Given the description of an element on the screen output the (x, y) to click on. 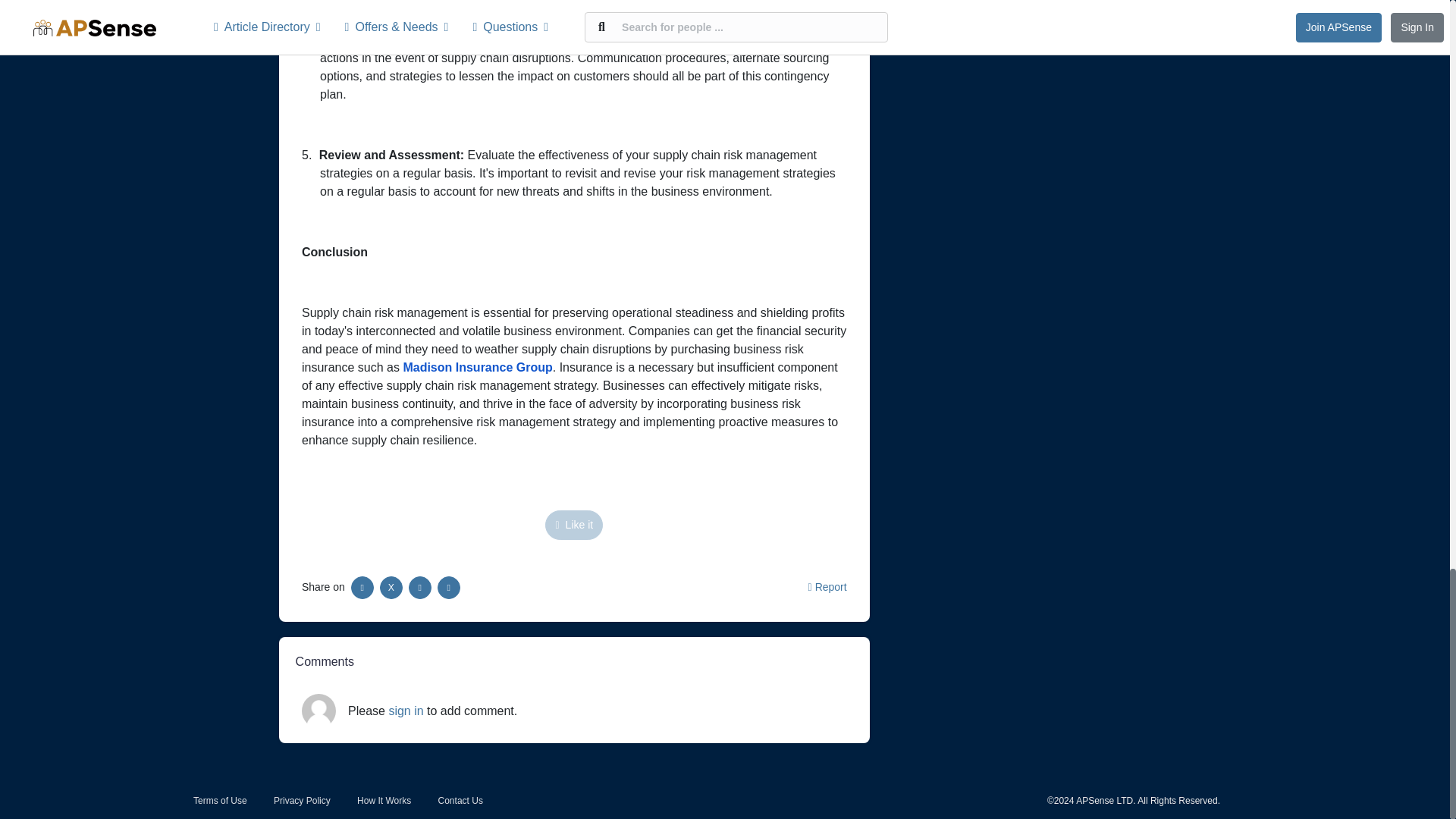
Like it (573, 524)
sign in (405, 710)
Madison Insurance Group (477, 367)
Report (827, 586)
X (391, 587)
